Given the description of an element on the screen output the (x, y) to click on. 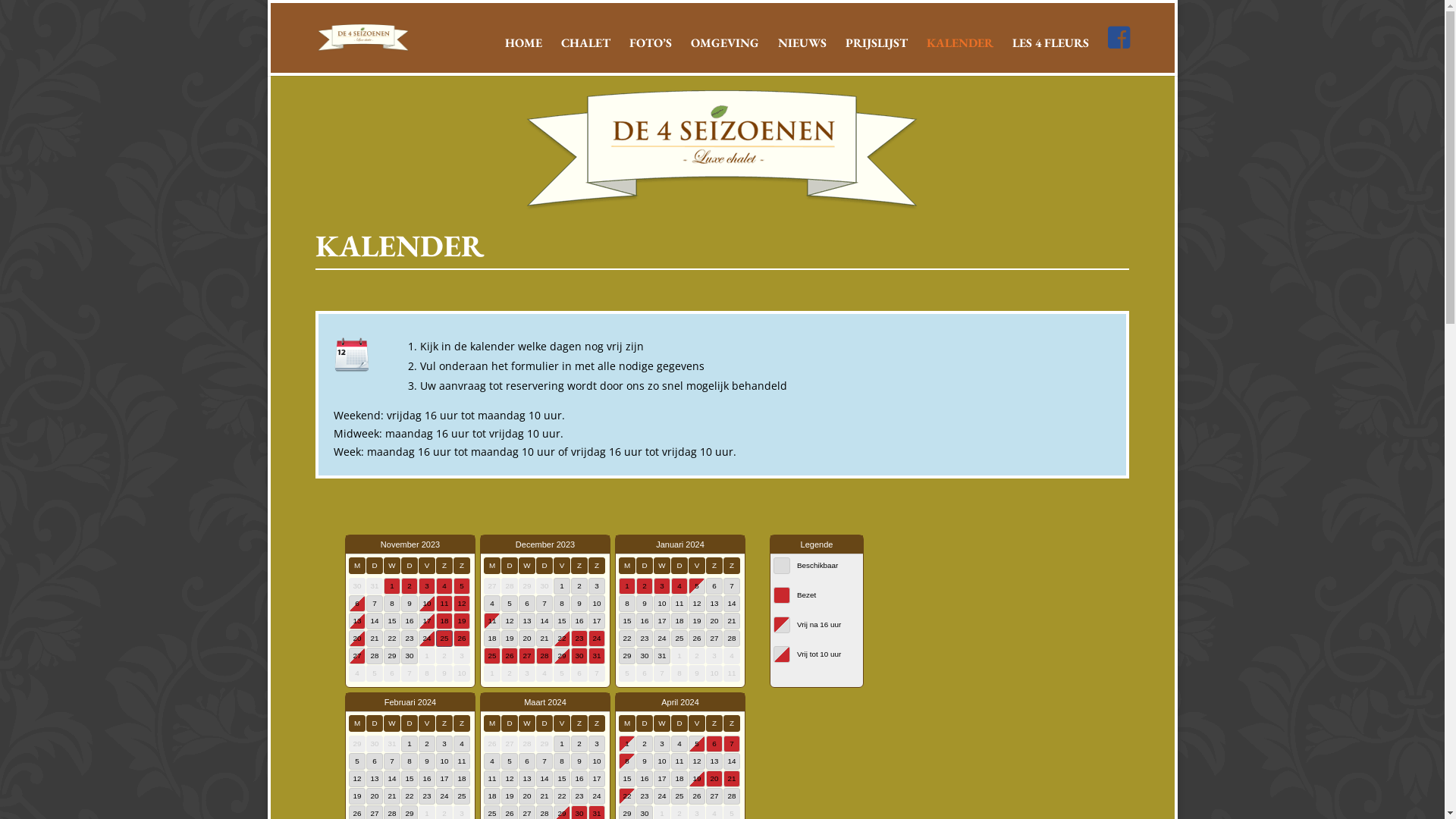
NIEUWS Element type: text (802, 54)
CHALET Element type: text (585, 54)
PRIJSLIJST Element type: text (876, 54)
OMGEVING Element type: text (724, 54)
HOME Element type: text (523, 54)
KALENDER Element type: text (959, 54)
LES 4 FLEURS Element type: text (1050, 54)
